Given the description of an element on the screen output the (x, y) to click on. 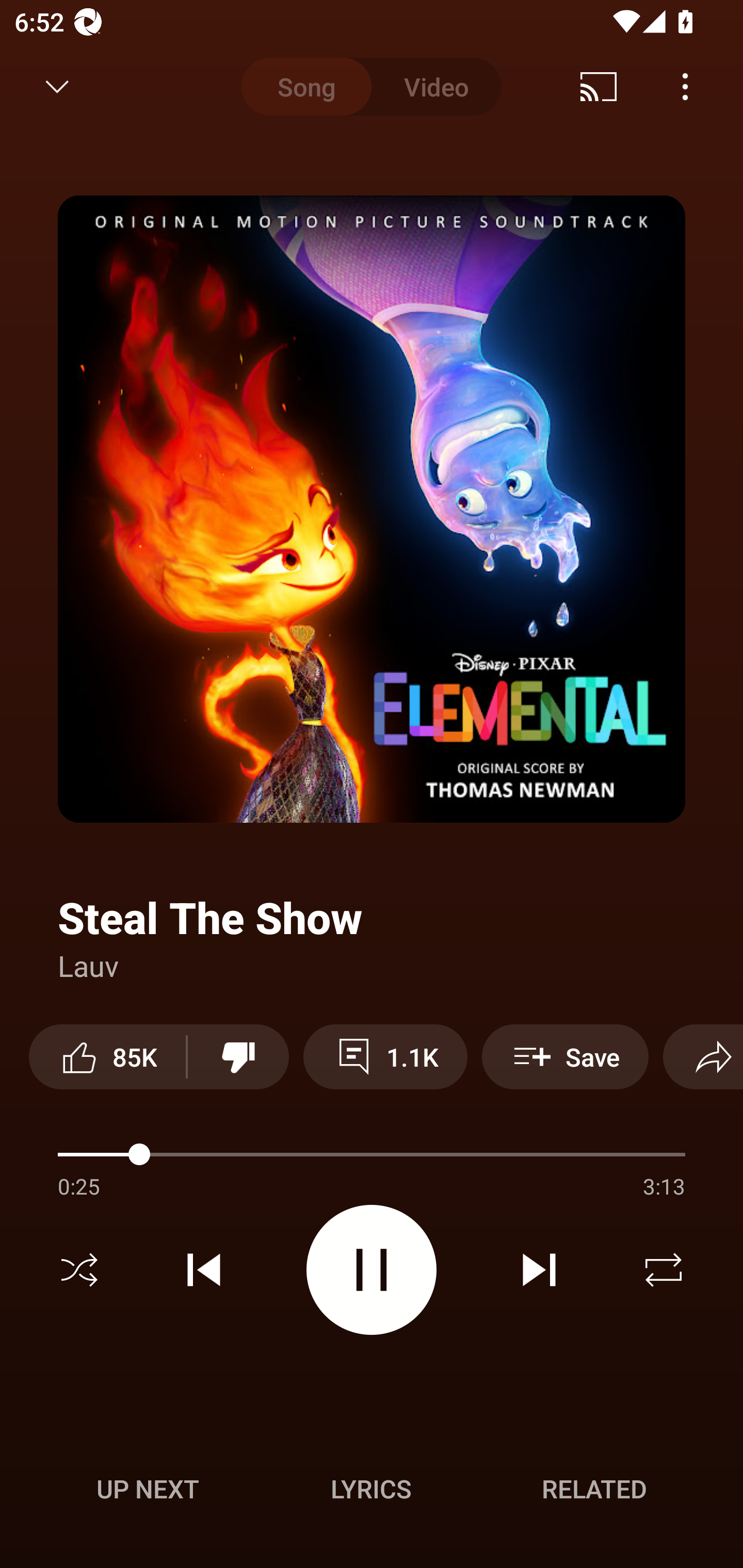
Minimize (57, 86)
Cast. Disconnected (598, 86)
Menu (684, 86)
85K like this video along with 85,792 other people (106, 1056)
Undo dislike (238, 1056)
1.1K View 1,180 comments (385, 1056)
Save Save to playlist (565, 1056)
Share (702, 1056)
Pause video (371, 1269)
Shuffle off (79, 1269)
Previous track (203, 1269)
Next track (538, 1269)
Repeat off (663, 1269)
Up next UP NEXT Lyrics LYRICS Related RELATED (371, 1491)
Lyrics LYRICS (370, 1488)
Related RELATED (594, 1488)
